Given the description of an element on the screen output the (x, y) to click on. 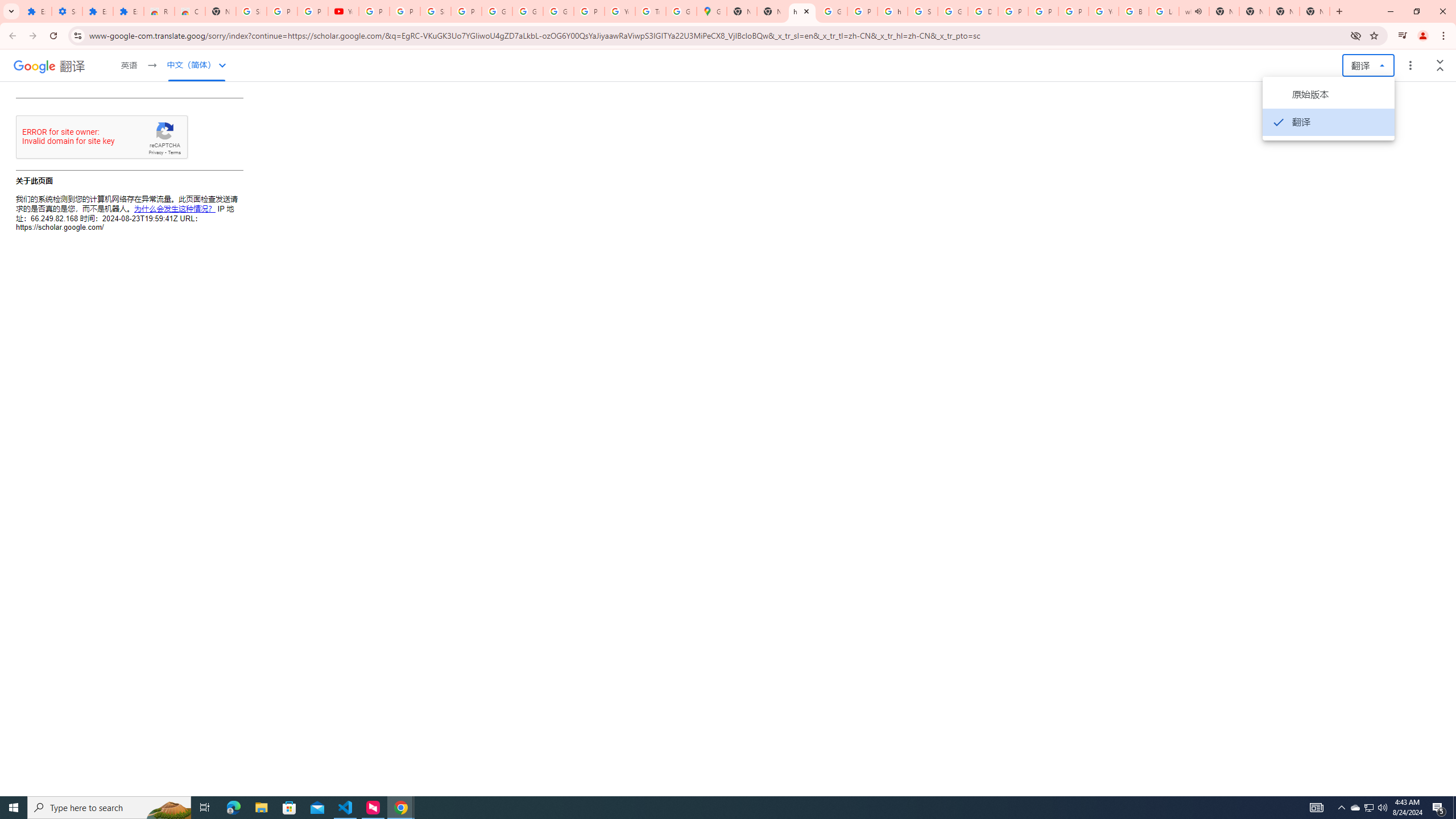
Sign in - Google Accounts (922, 11)
Google Account (496, 11)
Sign in - Google Accounts (251, 11)
Extensions (127, 11)
Settings (66, 11)
